Given the description of an element on the screen output the (x, y) to click on. 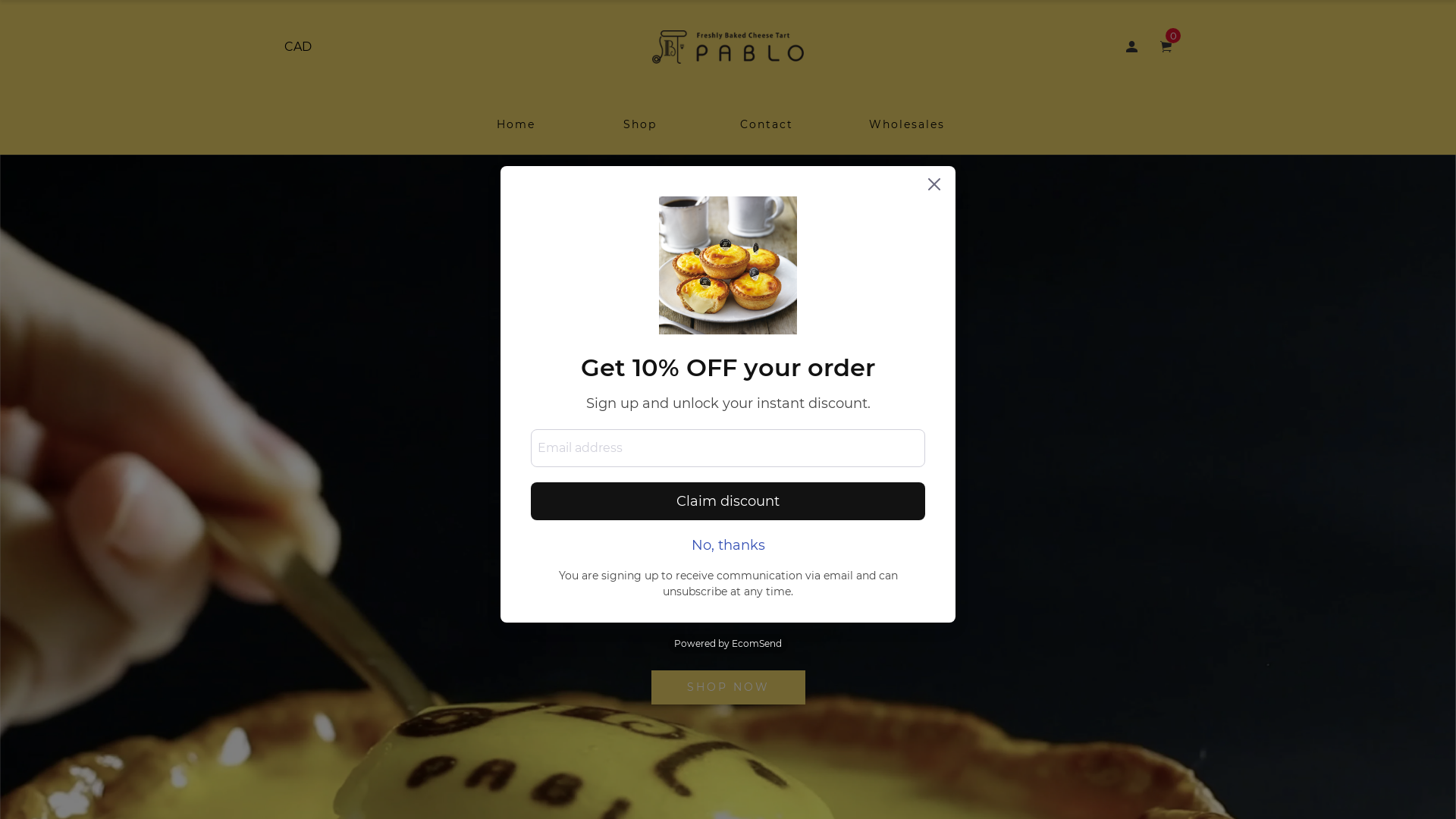
SHOP NOW Element type: text (727, 687)
0 Element type: text (1165, 46)
